Given the description of an element on the screen output the (x, y) to click on. 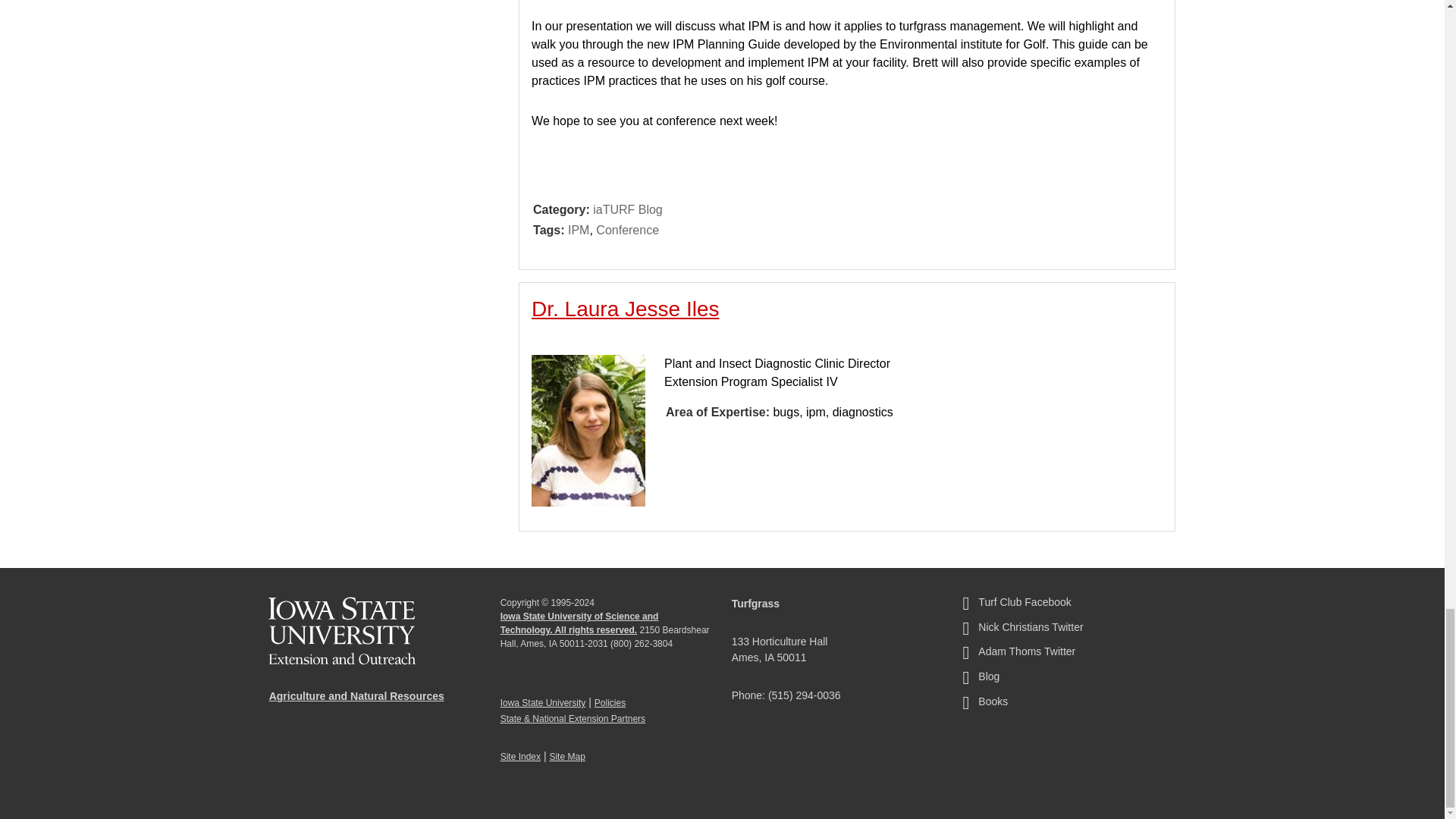
Dr. Laura  Jesse Iles (625, 309)
